Given the description of an element on the screen output the (x, y) to click on. 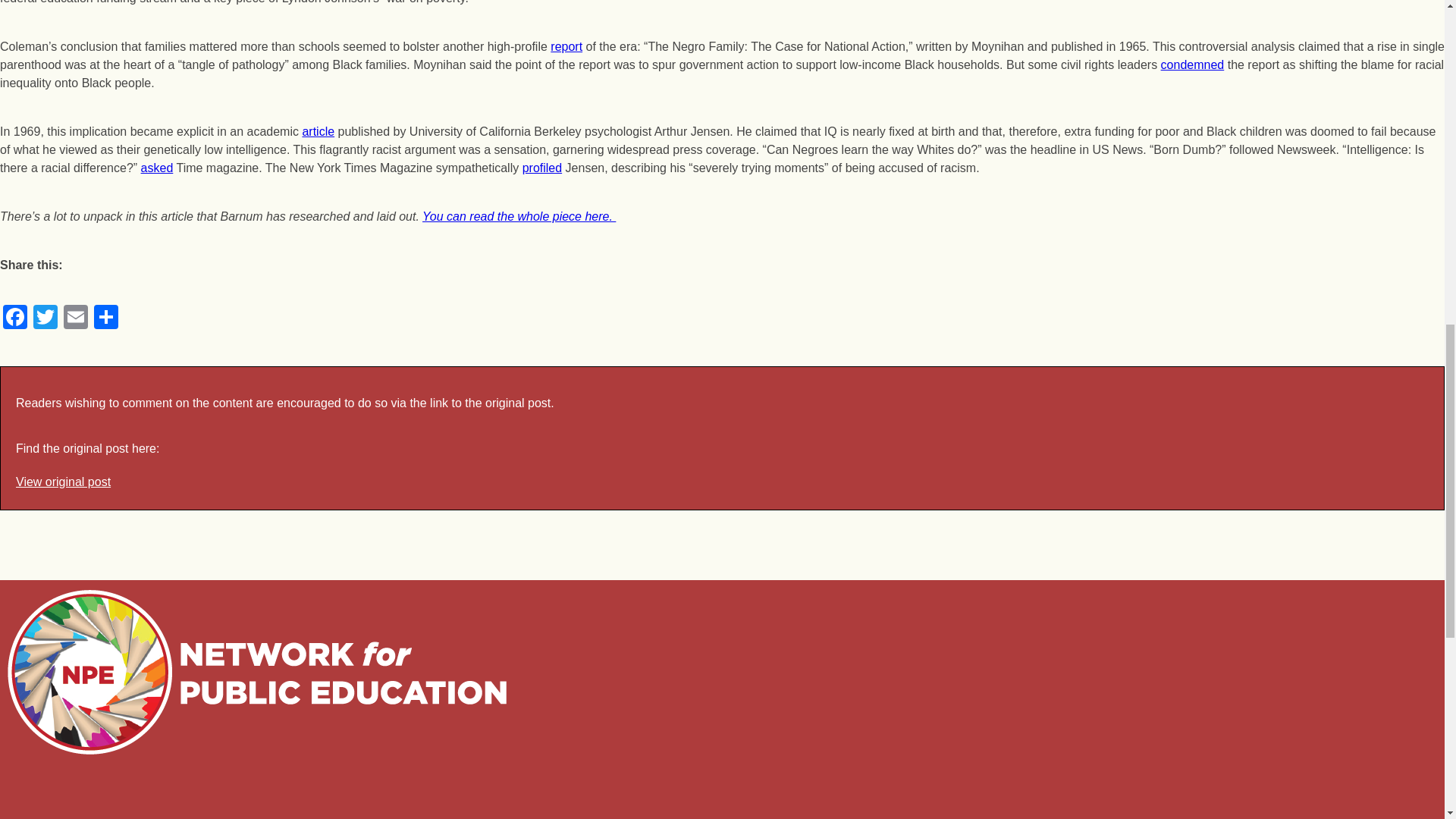
Email (75, 318)
Facebook (15, 318)
Twitter (45, 318)
